Given the description of an element on the screen output the (x, y) to click on. 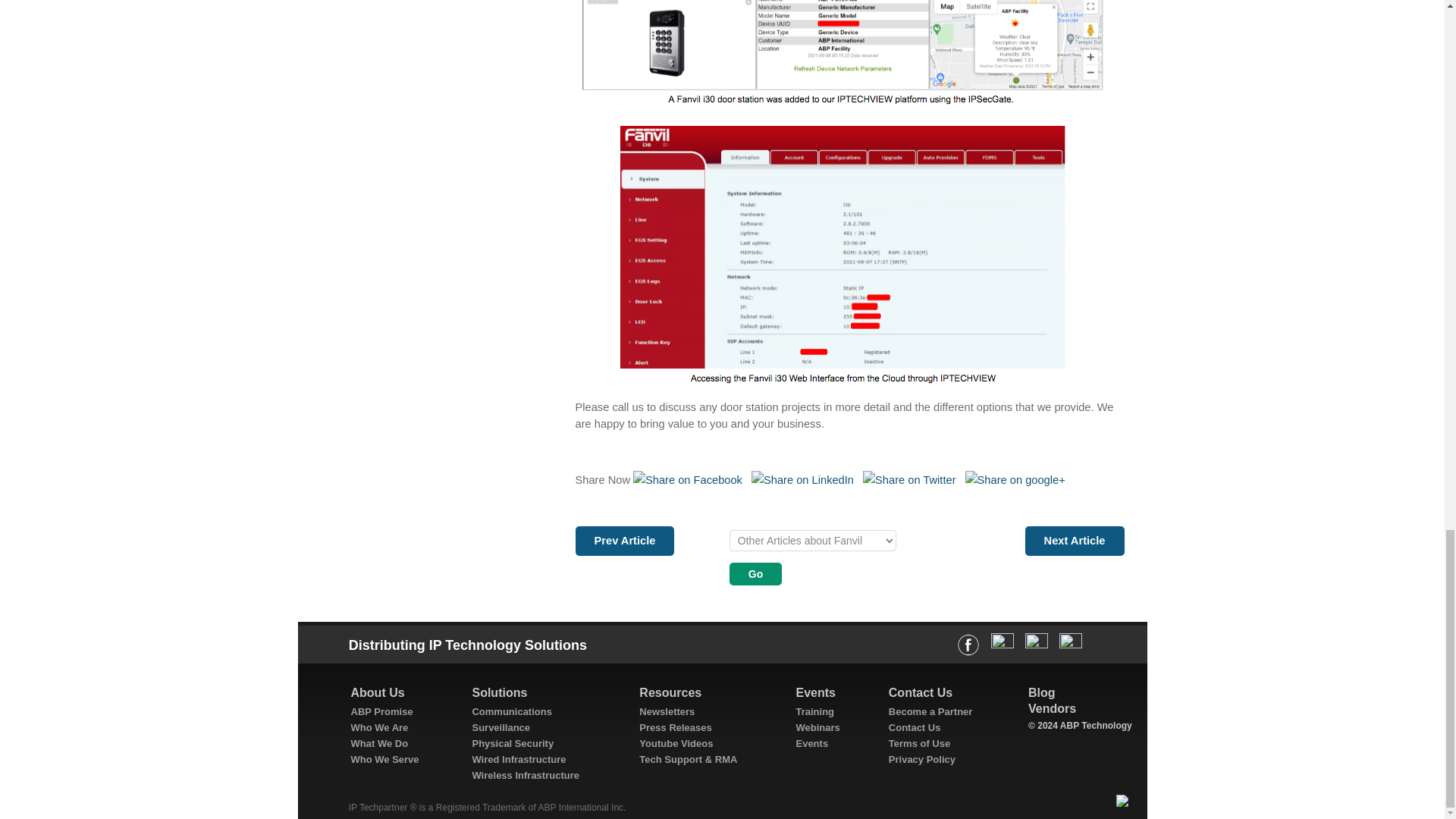
Twitter (909, 479)
Facebook (687, 479)
Go (755, 573)
Linkedin (802, 479)
